Given the description of an element on the screen output the (x, y) to click on. 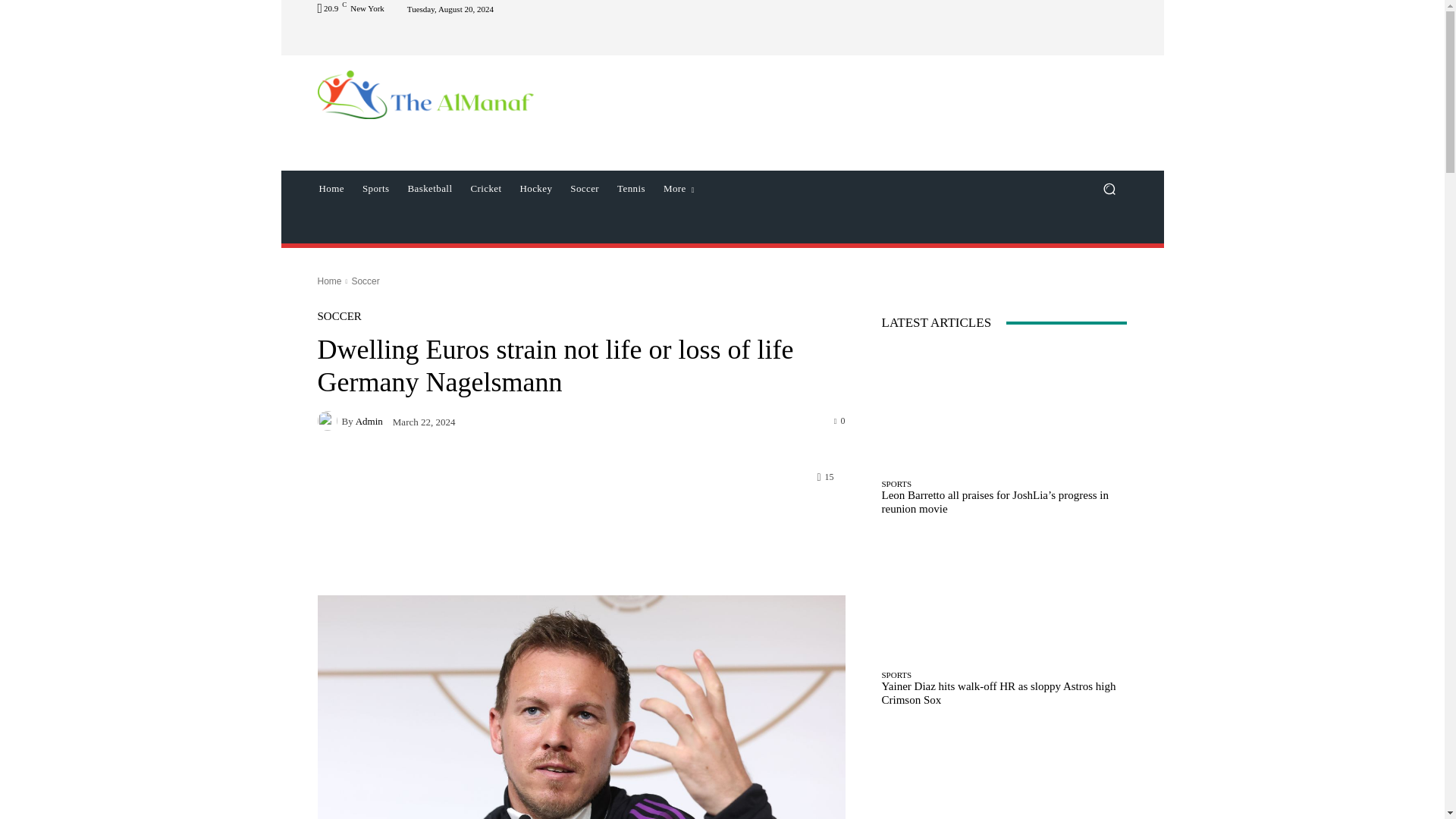
Hockey (535, 188)
Tennis (630, 188)
View all posts in Soccer (364, 281)
Cricket (486, 188)
admin (328, 420)
Home (330, 188)
Sports (375, 188)
Basketball (429, 188)
Soccer (584, 188)
More (678, 188)
